Given the description of an element on the screen output the (x, y) to click on. 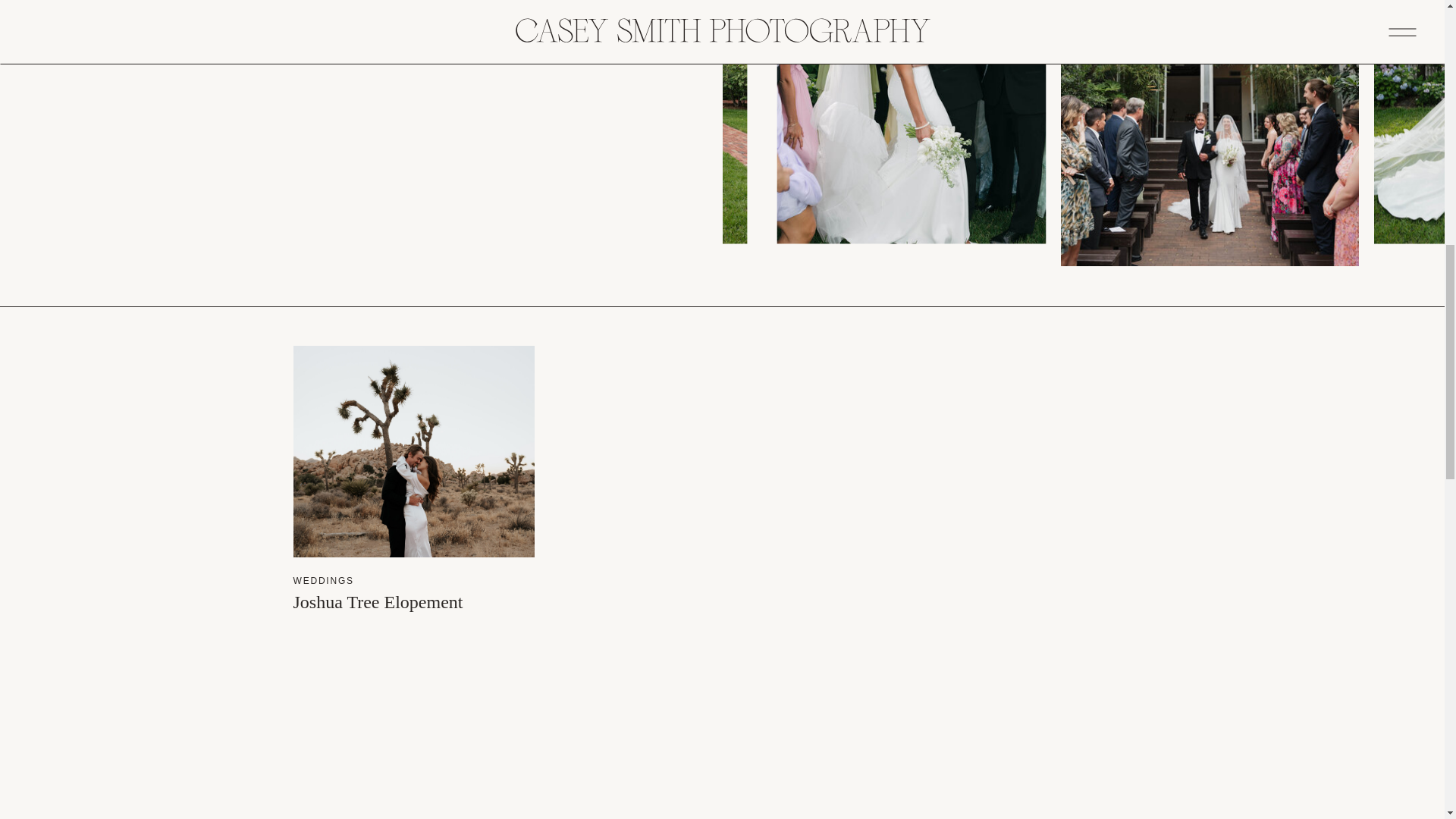
Joshua Tree Elopement (377, 601)
WEDDINGS (322, 580)
Joshua Tree Elopement (413, 451)
